Given the description of an element on the screen output the (x, y) to click on. 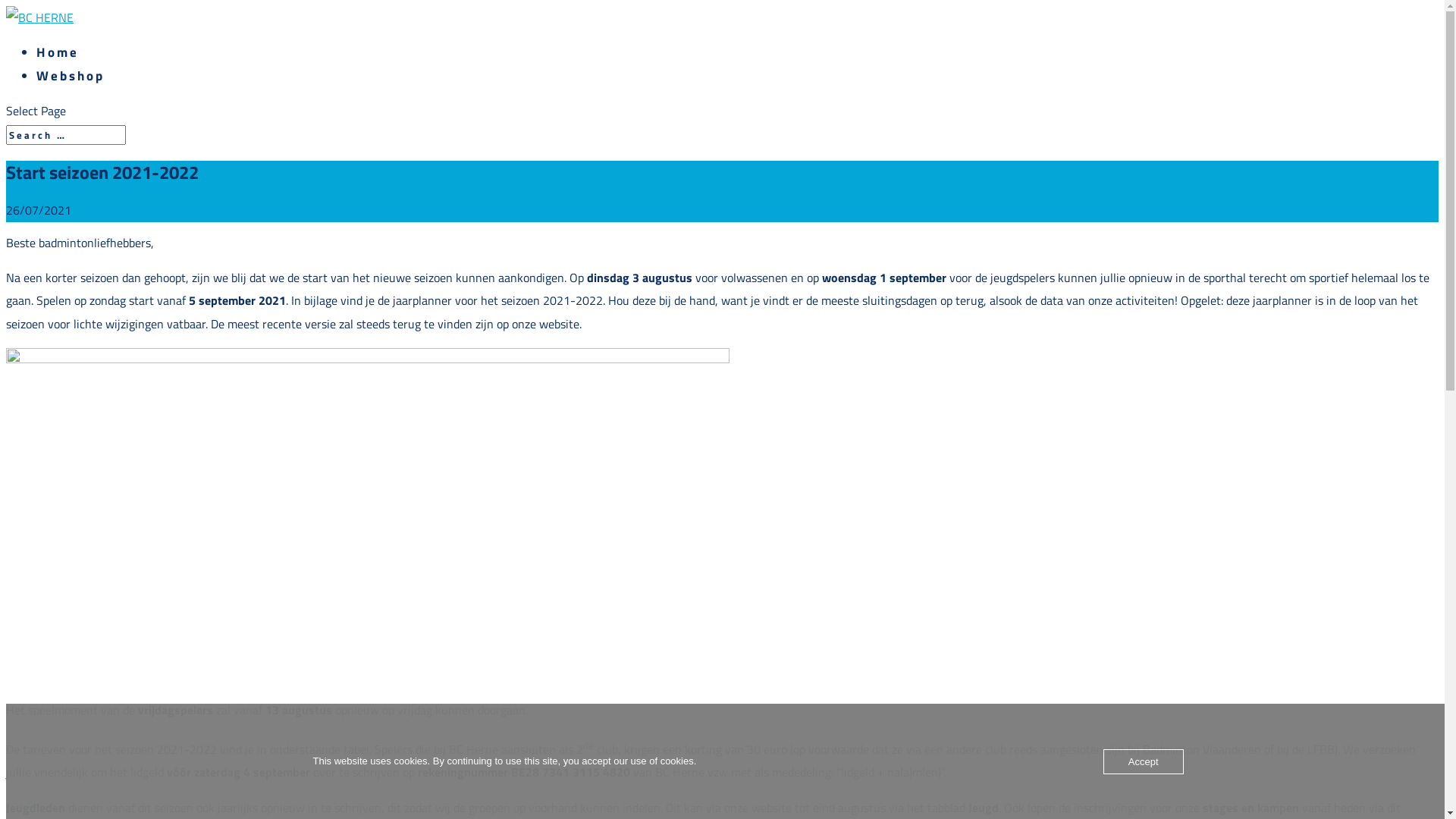
Webshop Element type: text (70, 75)
Search for: Element type: hover (65, 134)
Accept Element type: text (1143, 761)
Home Element type: text (57, 52)
